Given the description of an element on the screen output the (x, y) to click on. 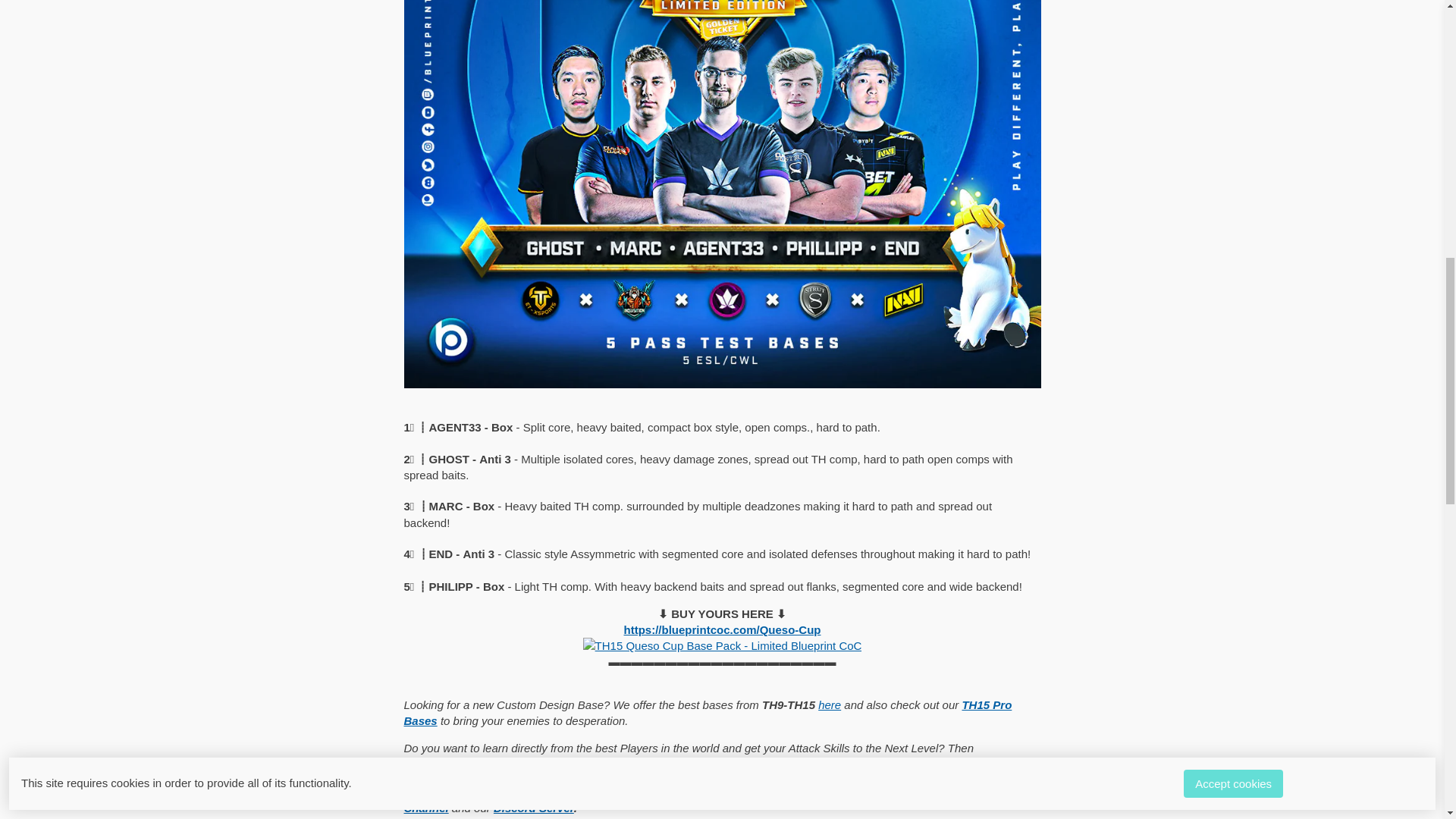
TH15 Queso Cup Base Pack - Limited Blueprint CoC (722, 645)
TH15 Queso Cup Base Pack - Limited Blueprint CoC (722, 629)
